Given the description of an element on the screen output the (x, y) to click on. 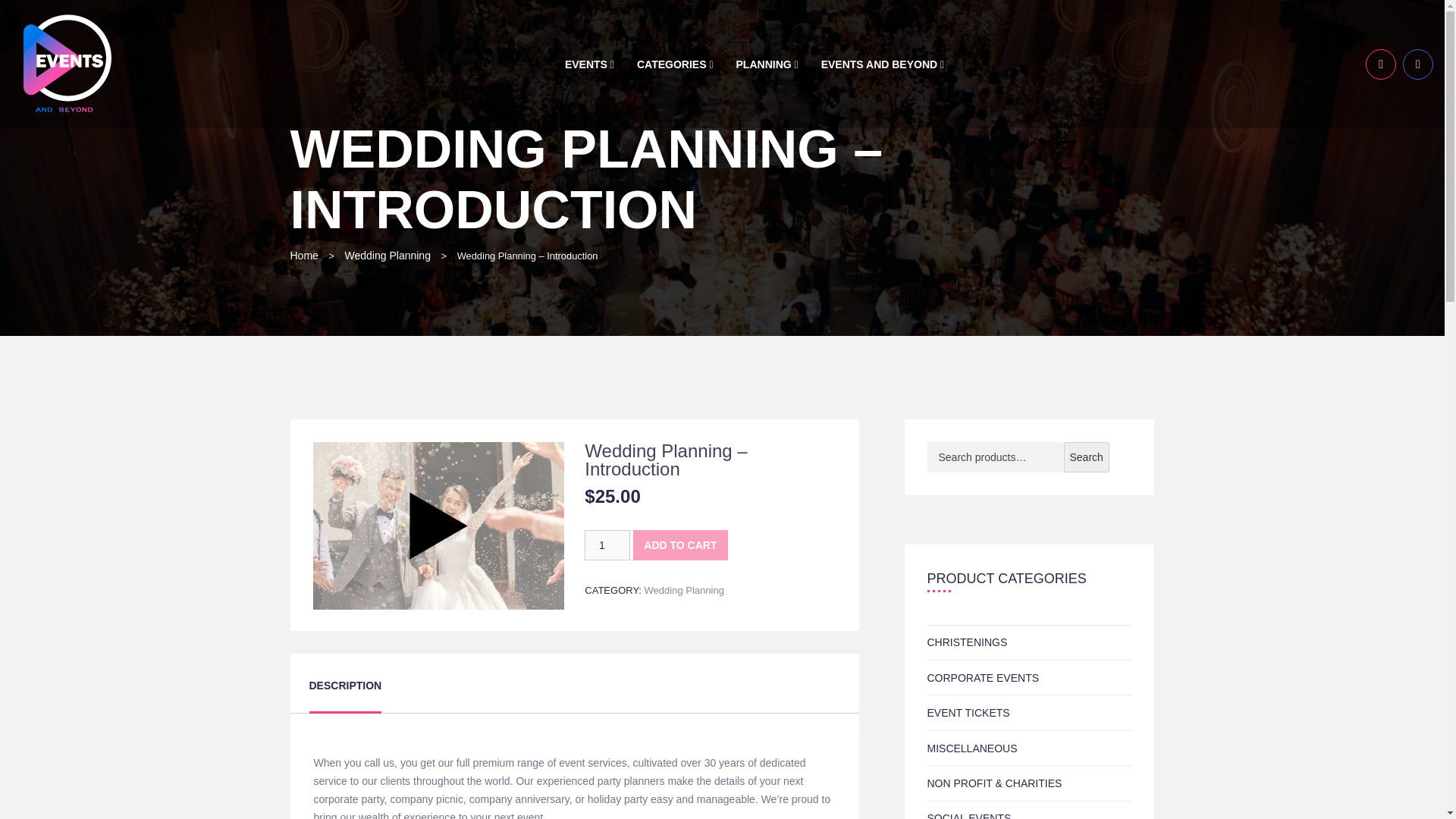
1 (607, 544)
PLANNING (767, 64)
Categories (675, 64)
EVENTS AND BEYOND (882, 64)
Events (589, 64)
EVENTS (589, 64)
CATEGORIES (675, 64)
